Given the description of an element on the screen output the (x, y) to click on. 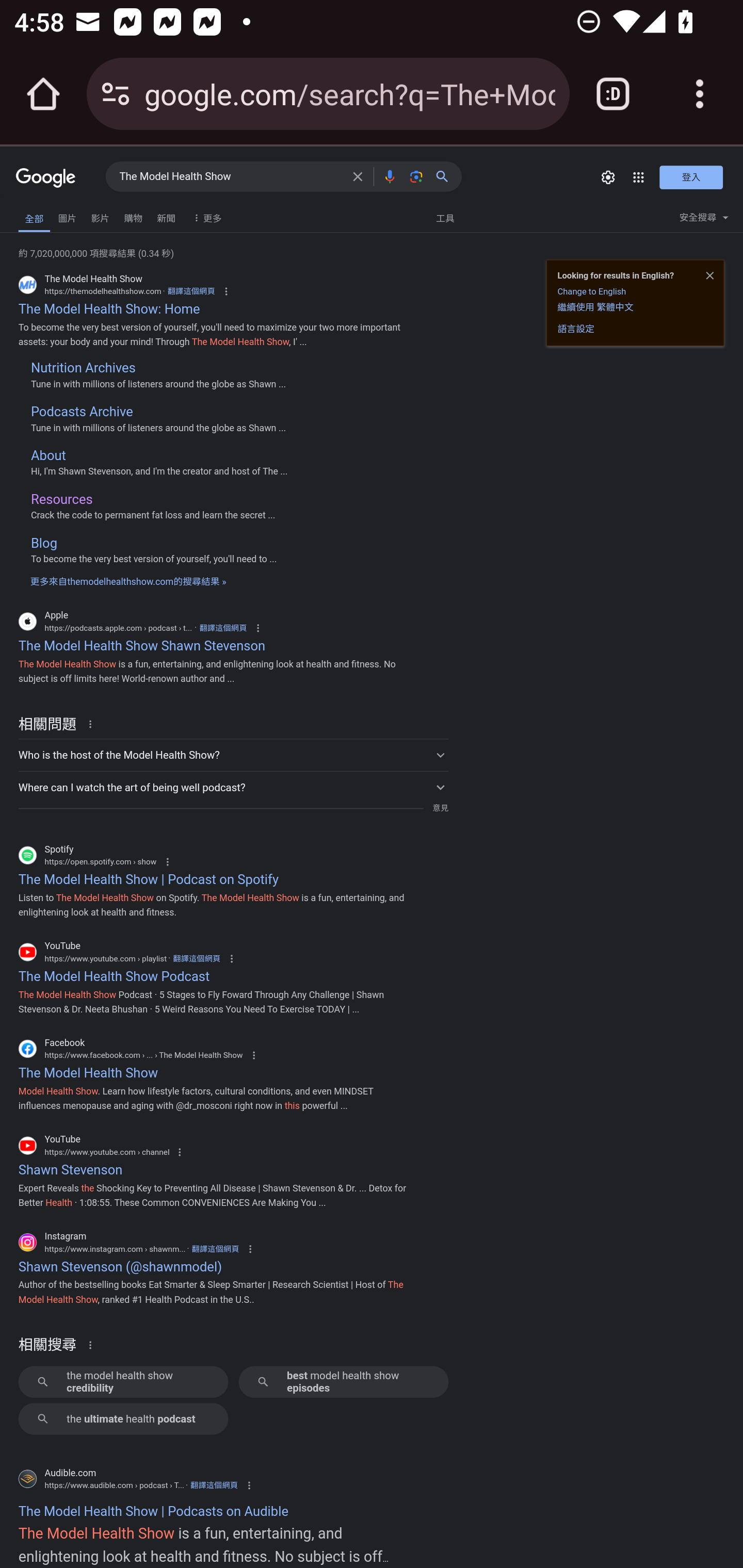
Open the home page (43, 93)
Connection is secure (115, 93)
Switch or close tabs (612, 93)
Customize and control Google Chrome (699, 93)
